Given the description of an element on the screen output the (x, y) to click on. 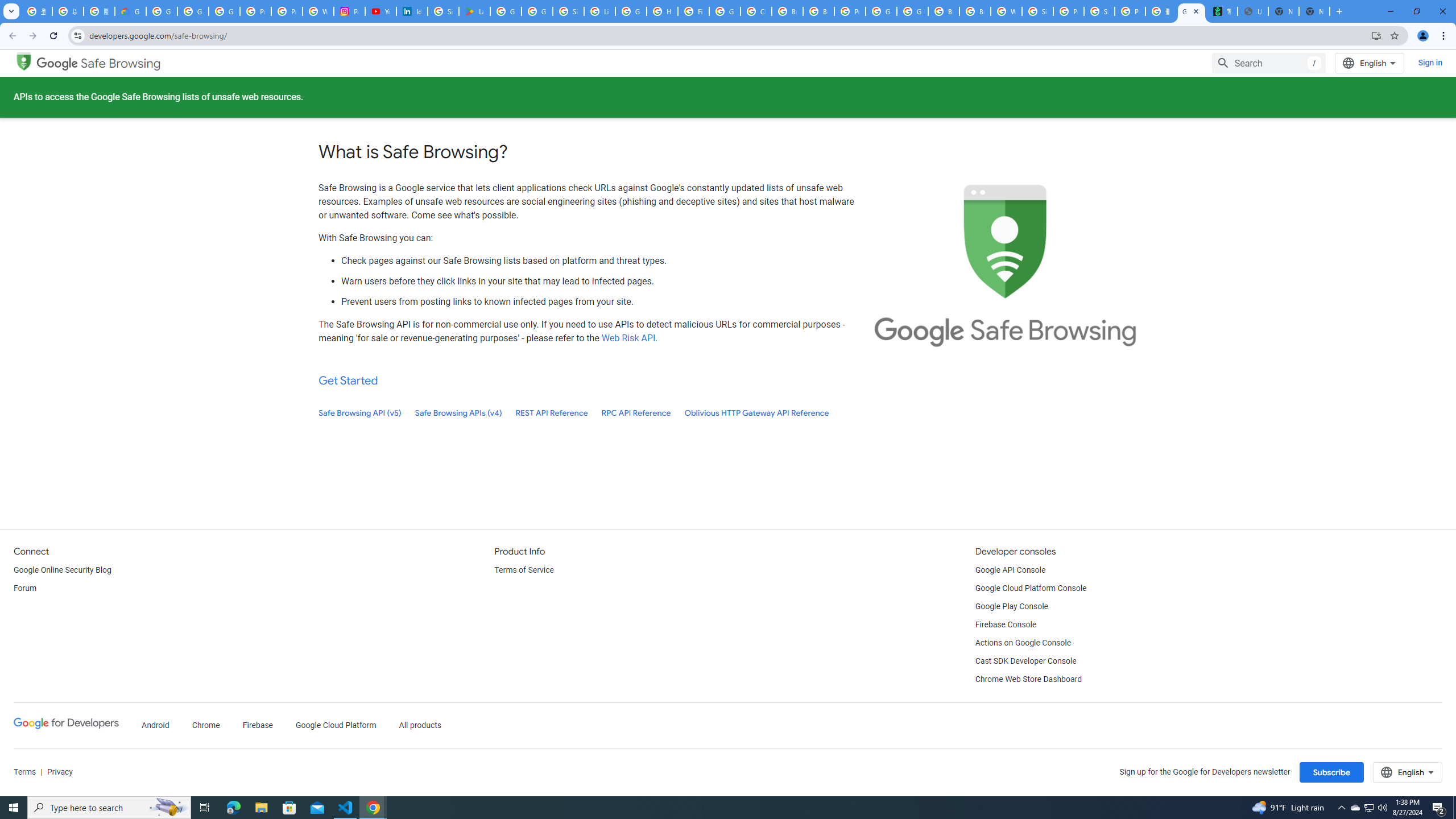
Browse Chrome as a guest - Computer - Google Chrome Help (818, 11)
Google Workspace - Specific Terms (536, 11)
REST API Reference (551, 412)
How do I create a new Google Account? - Google Account Help (662, 11)
Browse Chrome as a guest - Computer - Google Chrome Help (974, 11)
Google Cloud Platform (912, 11)
Oblivious HTTP Gateway API Reference (756, 412)
Last Shelter: Survival - Apps on Google Play (474, 11)
